Given the description of an element on the screen output the (x, y) to click on. 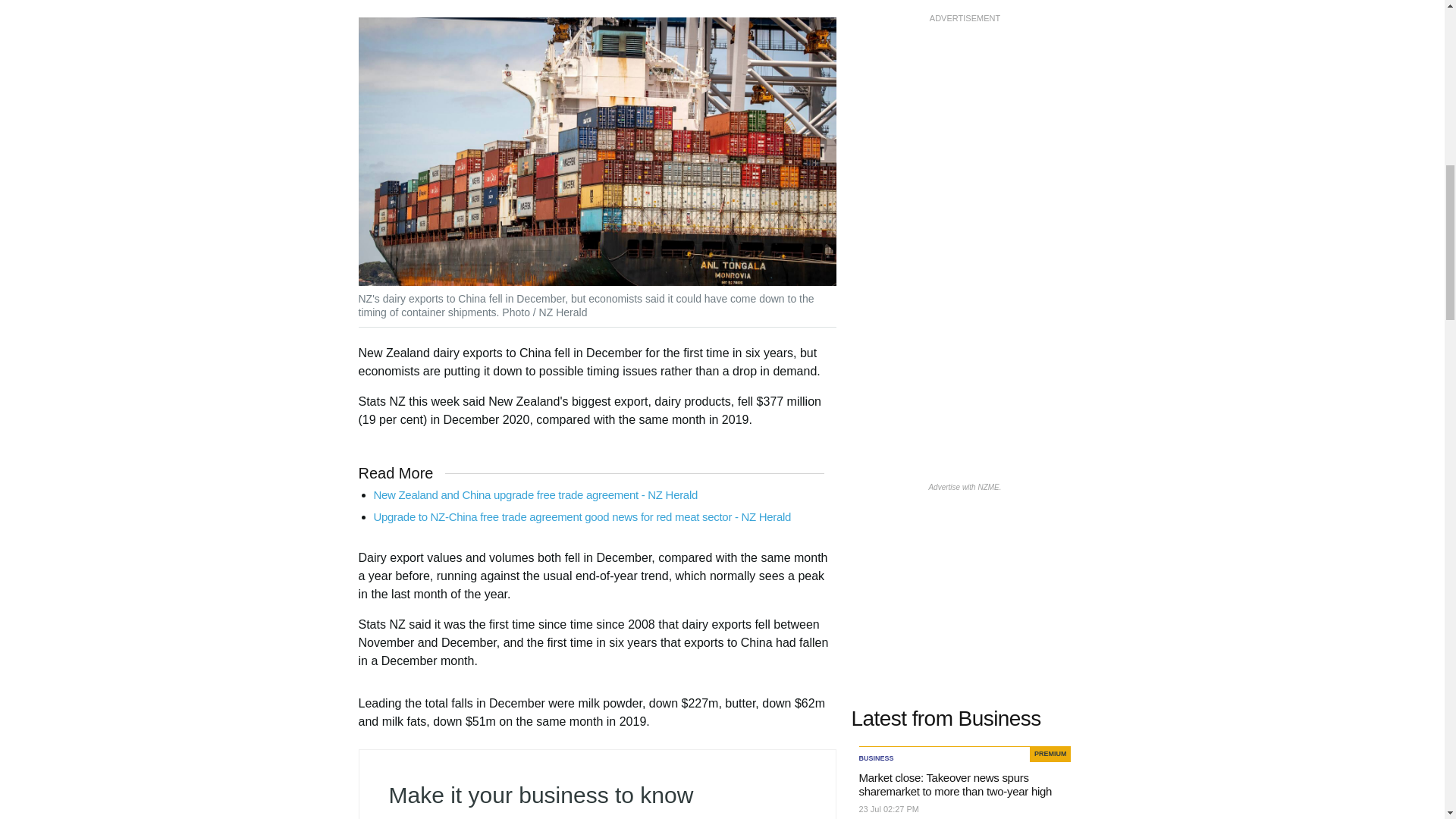
3rd party ad content (964, 121)
